Given the description of an element on the screen output the (x, y) to click on. 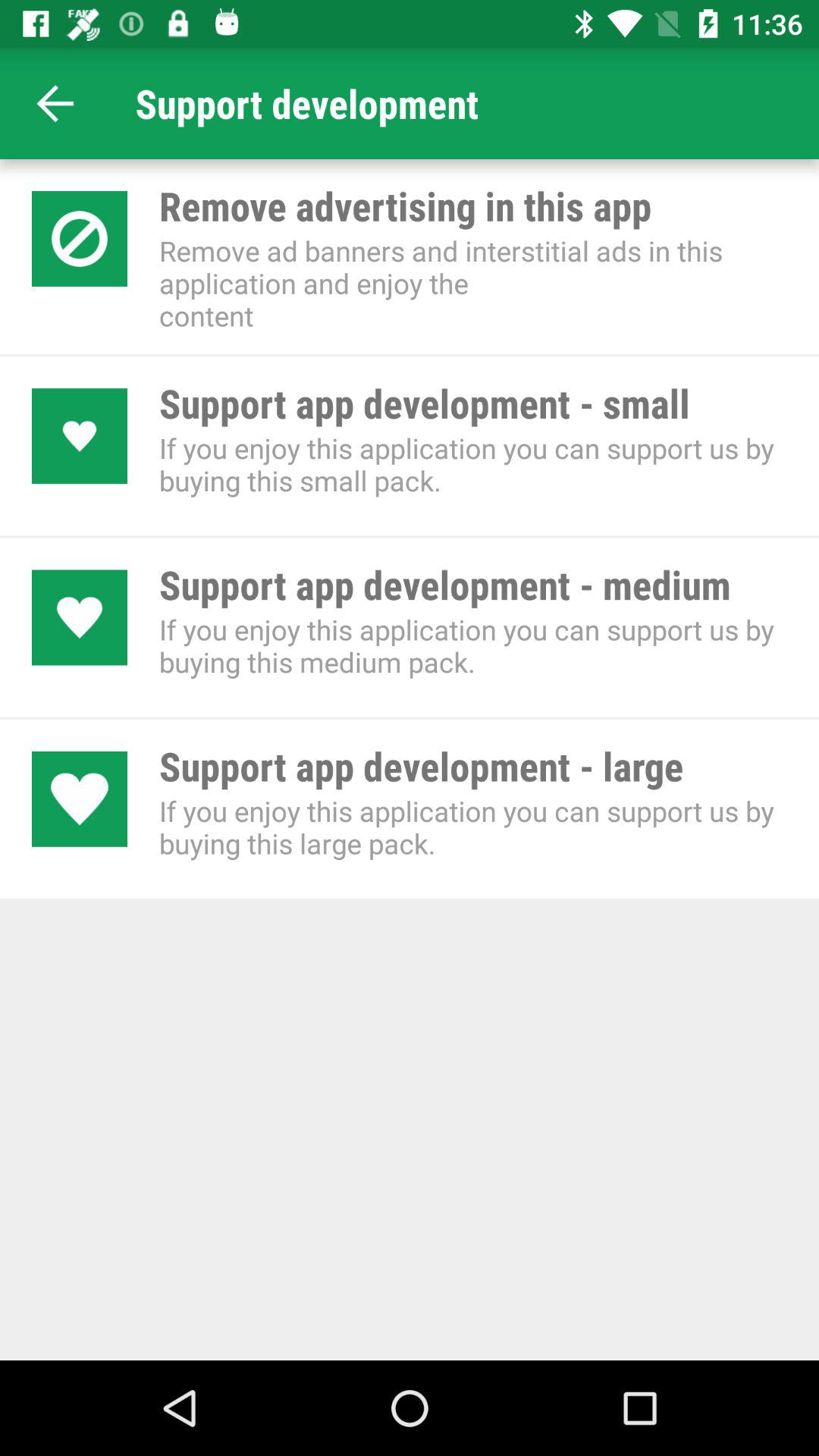
first (55, 103)
